Given the description of an element on the screen output the (x, y) to click on. 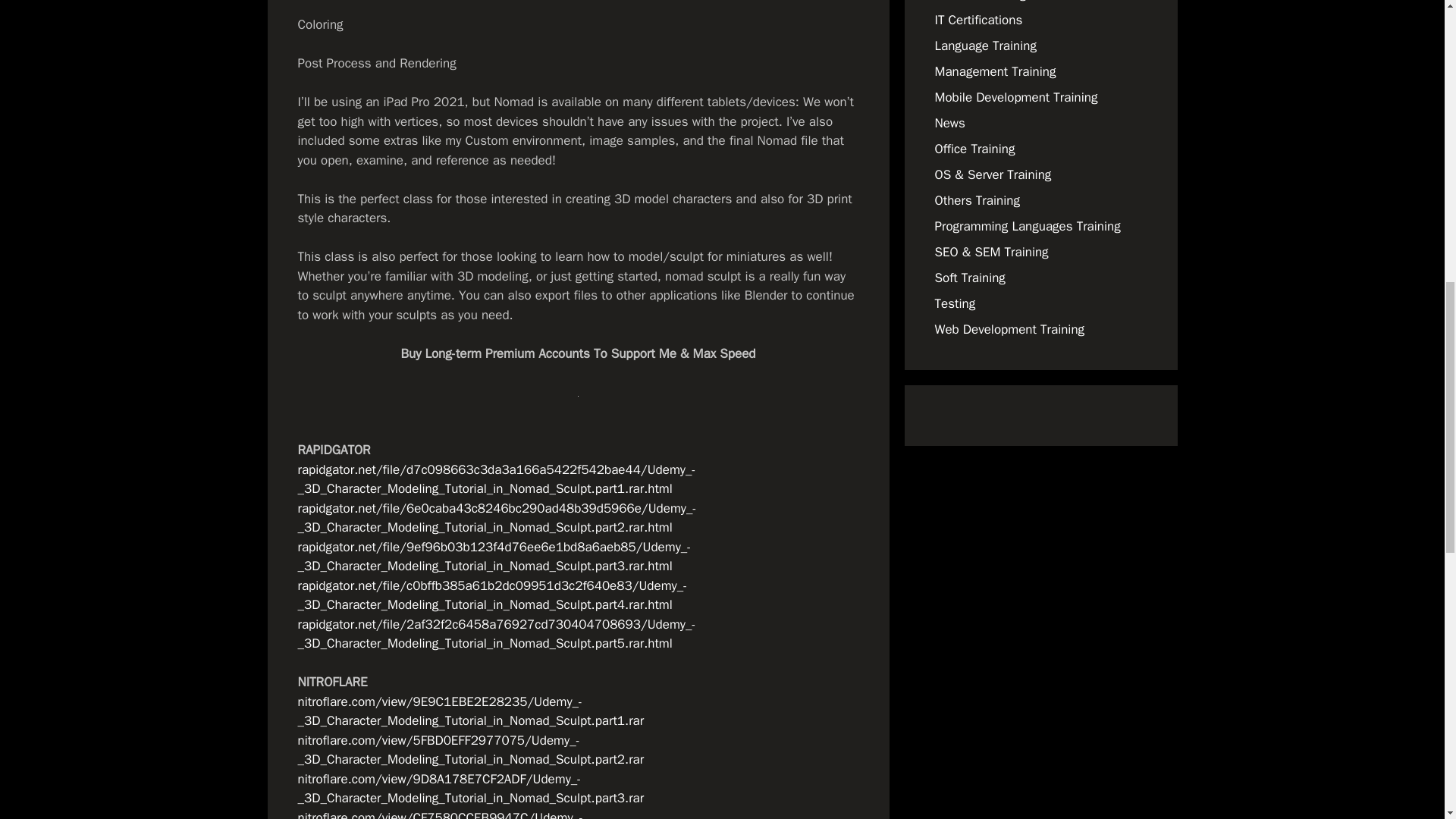
Language Training (984, 45)
Office Training (974, 148)
News (948, 123)
IT Certifications (978, 19)
Internet Training (980, 1)
Management Training (994, 71)
Mobile Development Training (1015, 97)
